Given the description of an element on the screen output the (x, y) to click on. 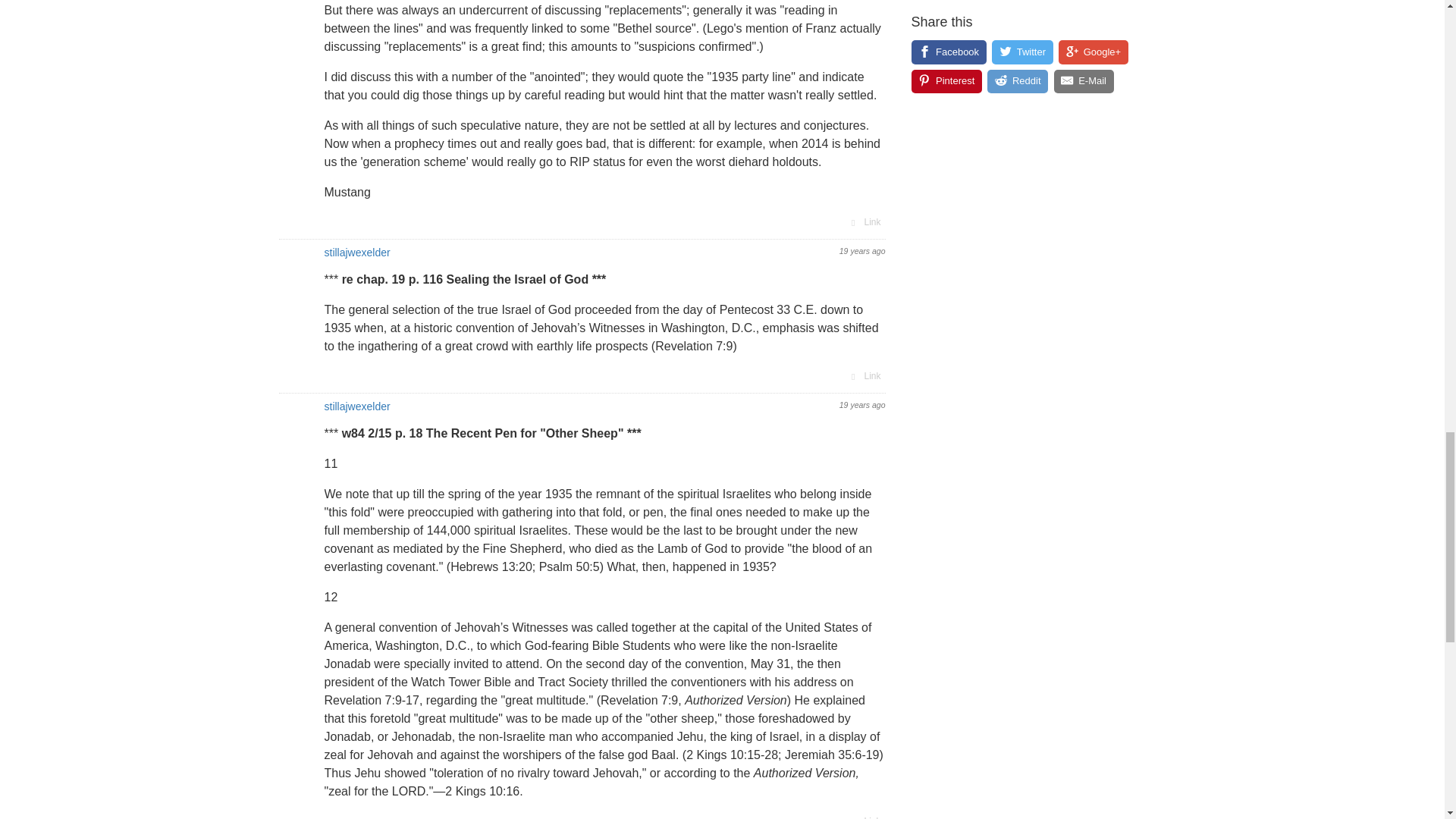
Link (864, 221)
Link (864, 816)
stillajwexelder (357, 406)
Link (864, 375)
stillajwexelder (357, 252)
